Given the description of an element on the screen output the (x, y) to click on. 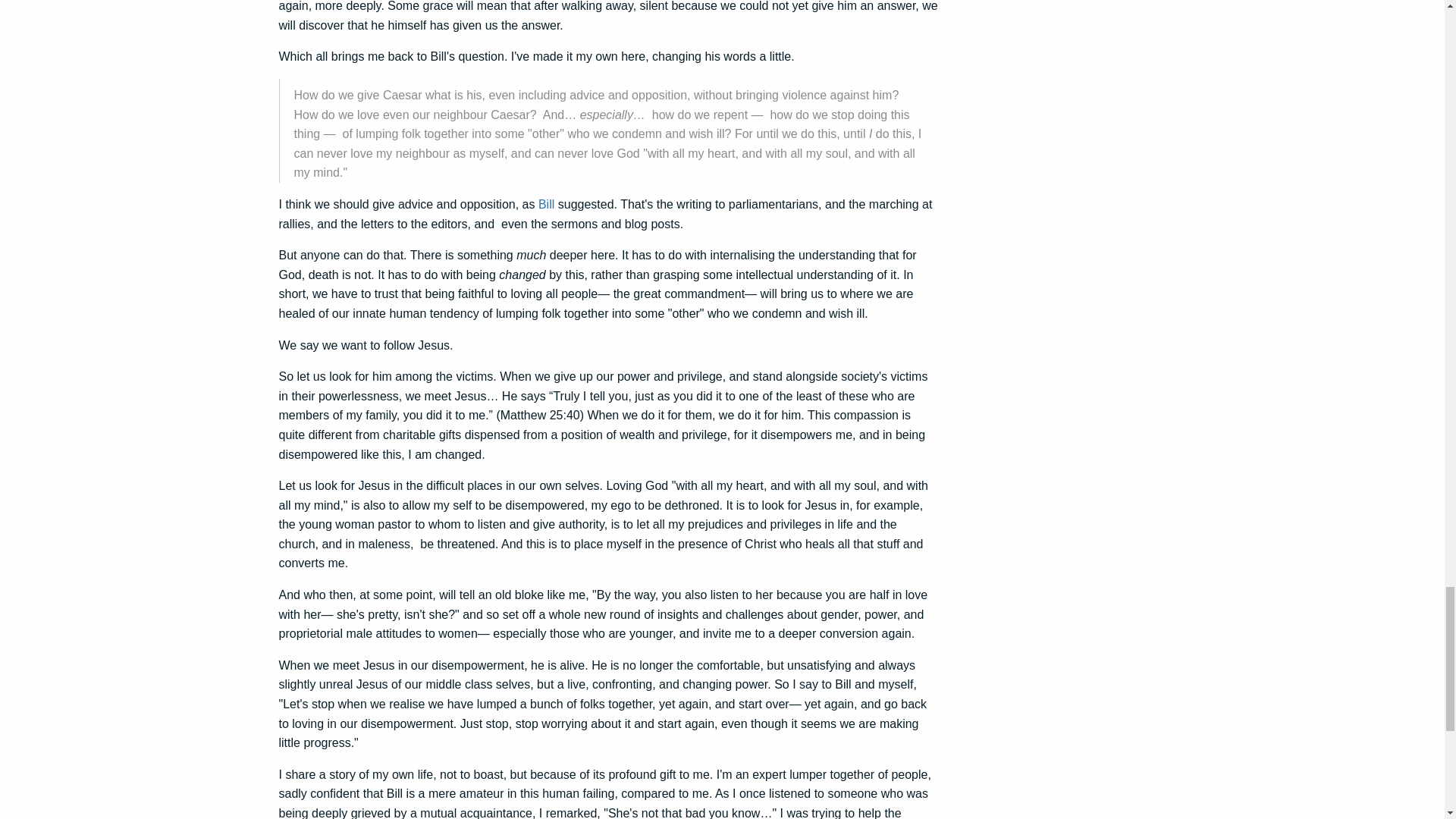
Bill (546, 204)
